Given the description of an element on the screen output the (x, y) to click on. 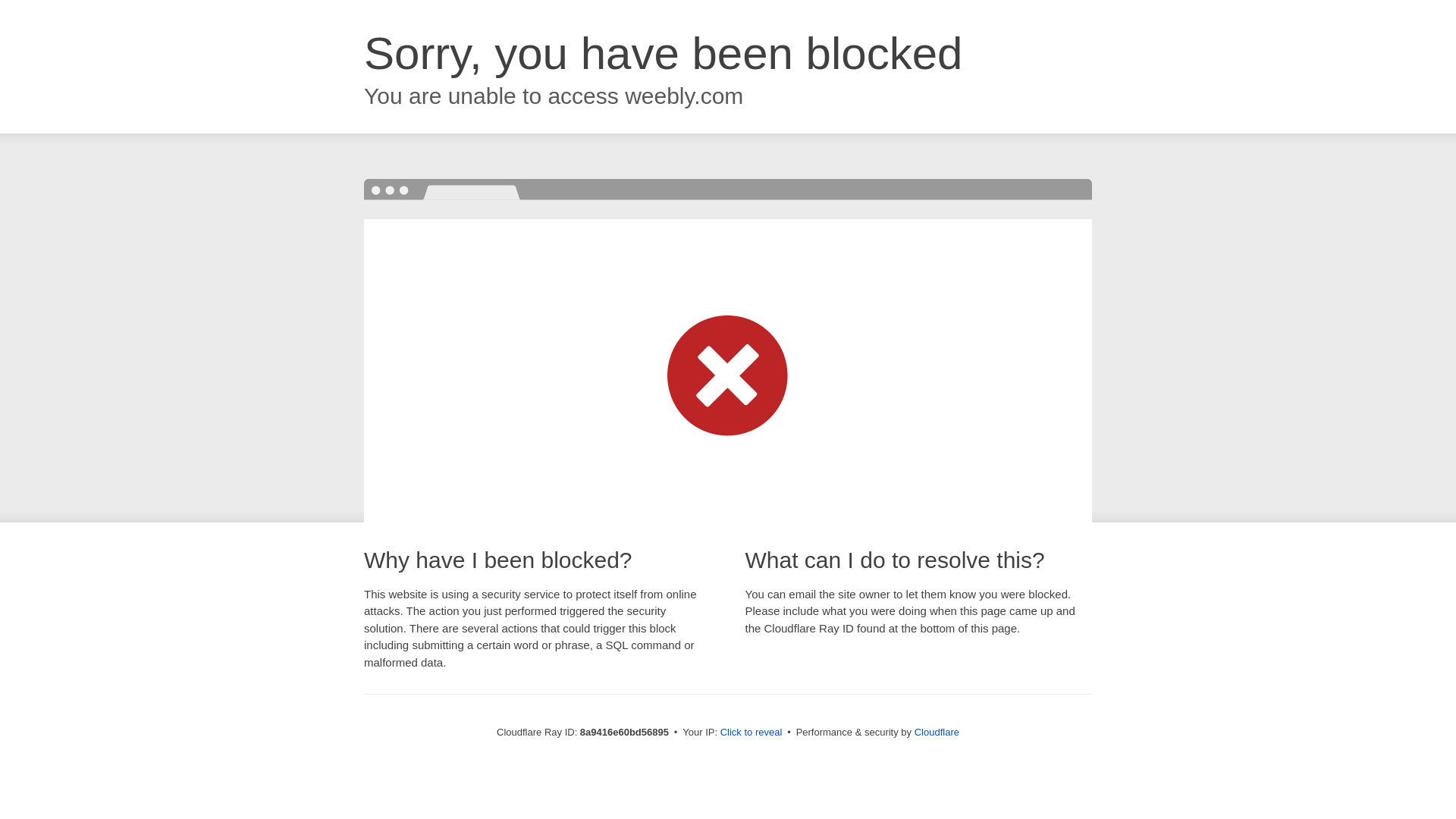
Cloudflare (936, 731)
Click to reveal (751, 732)
